Given the description of an element on the screen output the (x, y) to click on. 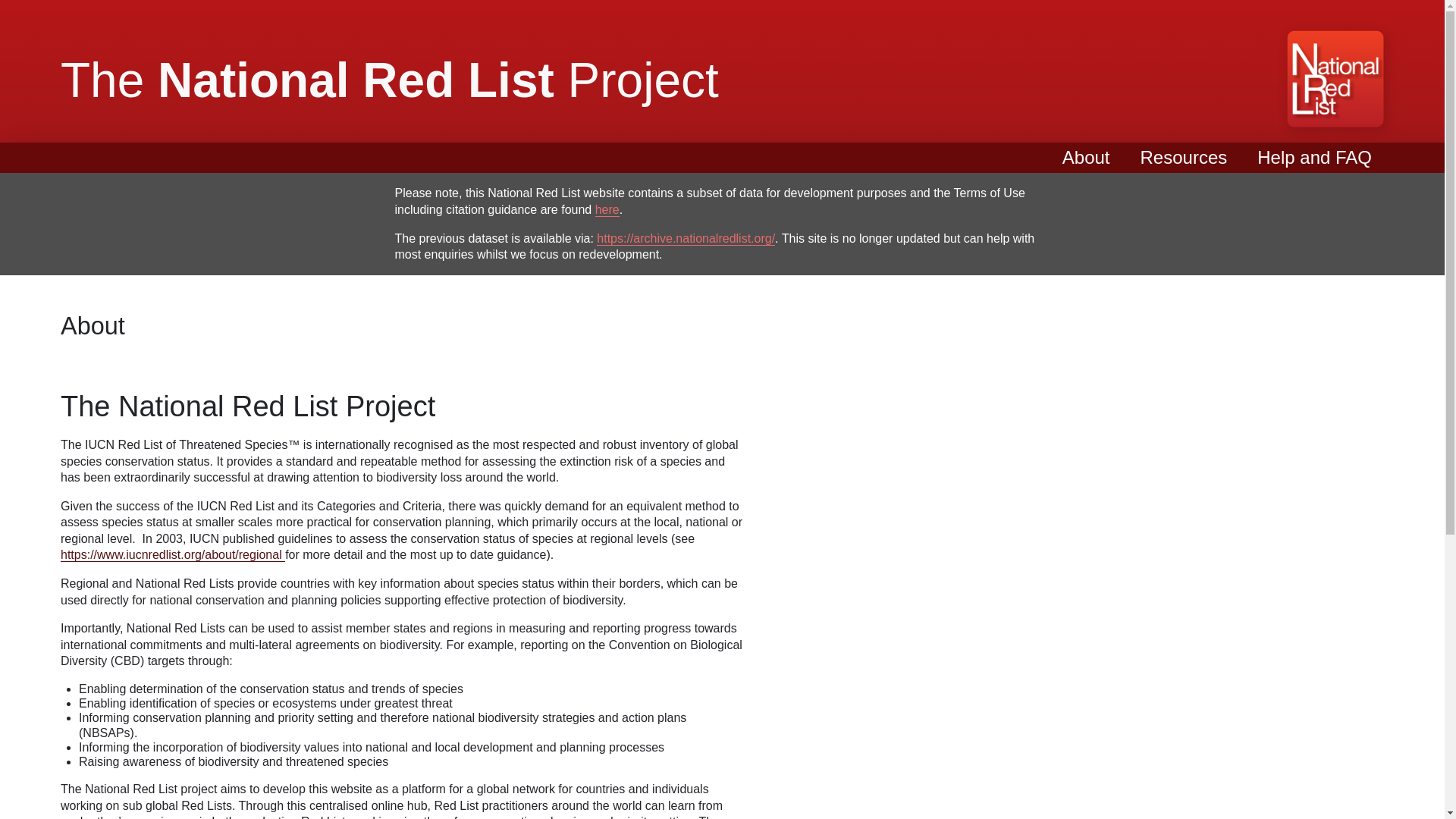
About (1085, 157)
The National Red List Project (390, 80)
Help and FAQ (1314, 157)
Resources (1183, 157)
here (607, 210)
Skip to main content (721, 1)
